Given the description of an element on the screen output the (x, y) to click on. 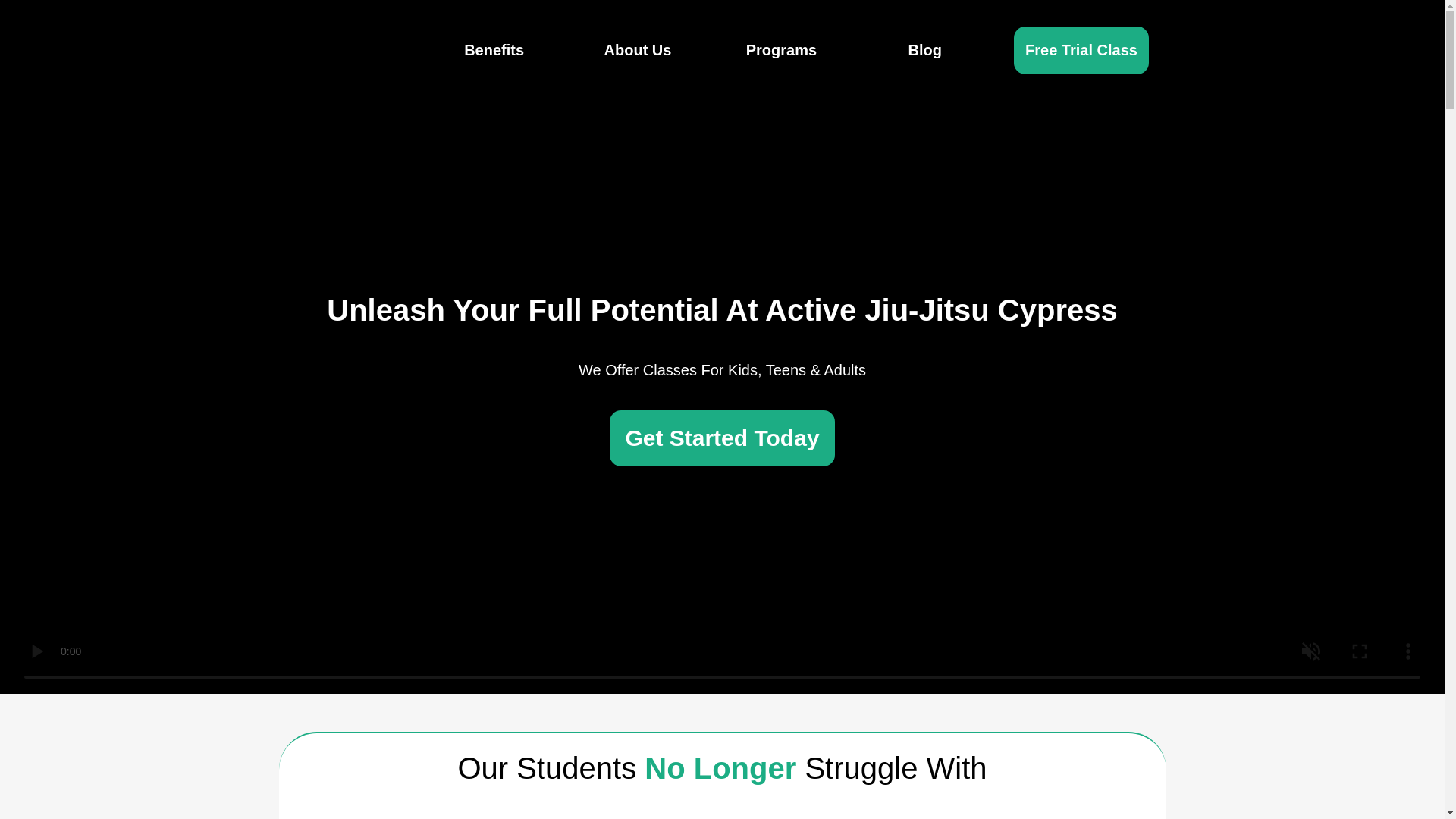
Blog (924, 50)
Get Started Today (722, 438)
Benefits (493, 50)
Free Trial Class (1080, 50)
About Us (637, 50)
Programs (780, 50)
